Given the description of an element on the screen output the (x, y) to click on. 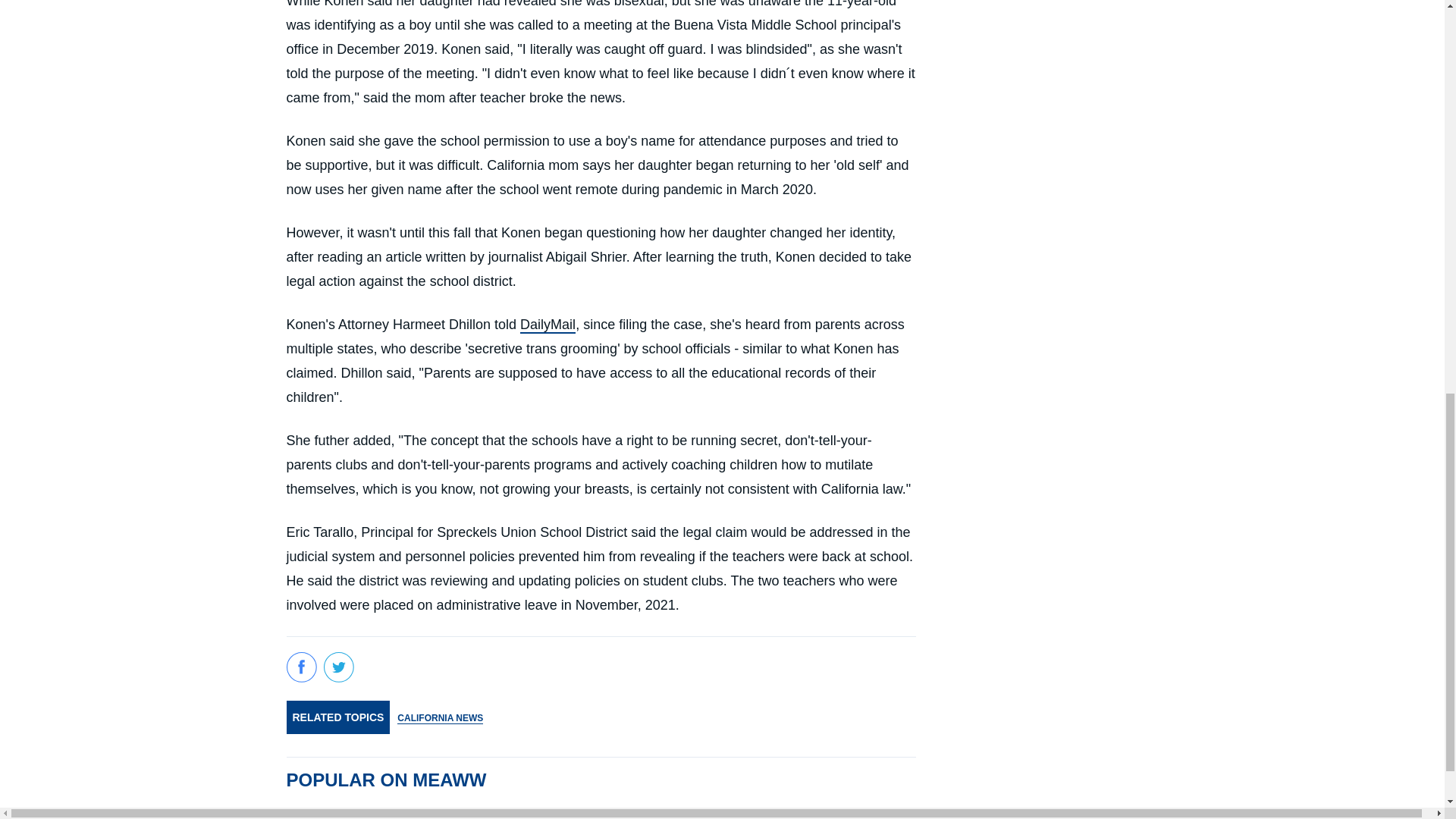
CALIFORNIA NEWS (440, 717)
DailyMail (547, 324)
